Given the description of an element on the screen output the (x, y) to click on. 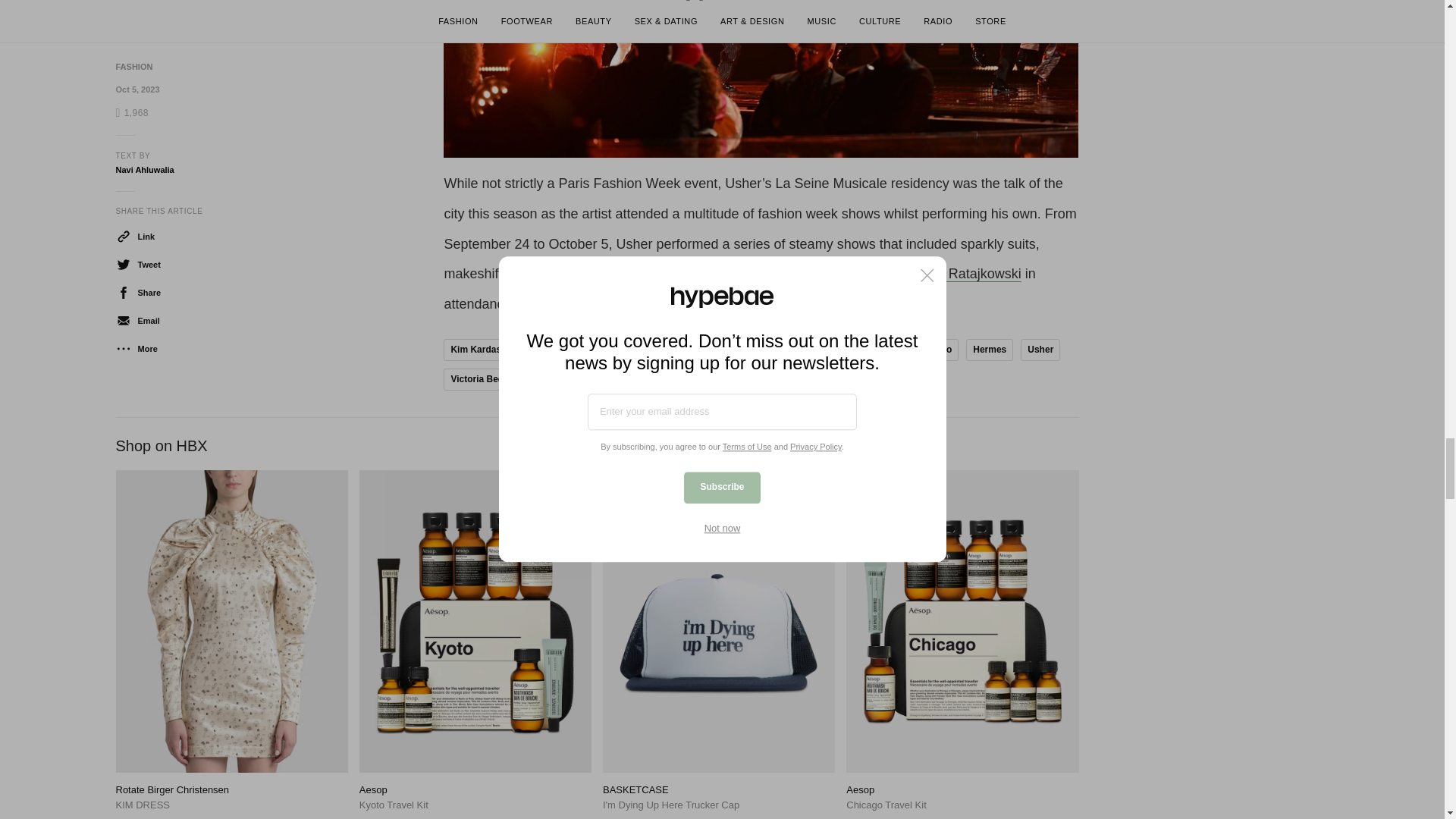
FKA twigs (651, 350)
Undercover (789, 350)
Kylie Jenner (862, 350)
Hermes (989, 350)
Usher (1039, 350)
Valentino (931, 350)
Kim Kardashian (484, 350)
Kendall Jenner (573, 350)
Balenciaga (718, 350)
Victoria Beckham (489, 379)
